Given the description of an element on the screen output the (x, y) to click on. 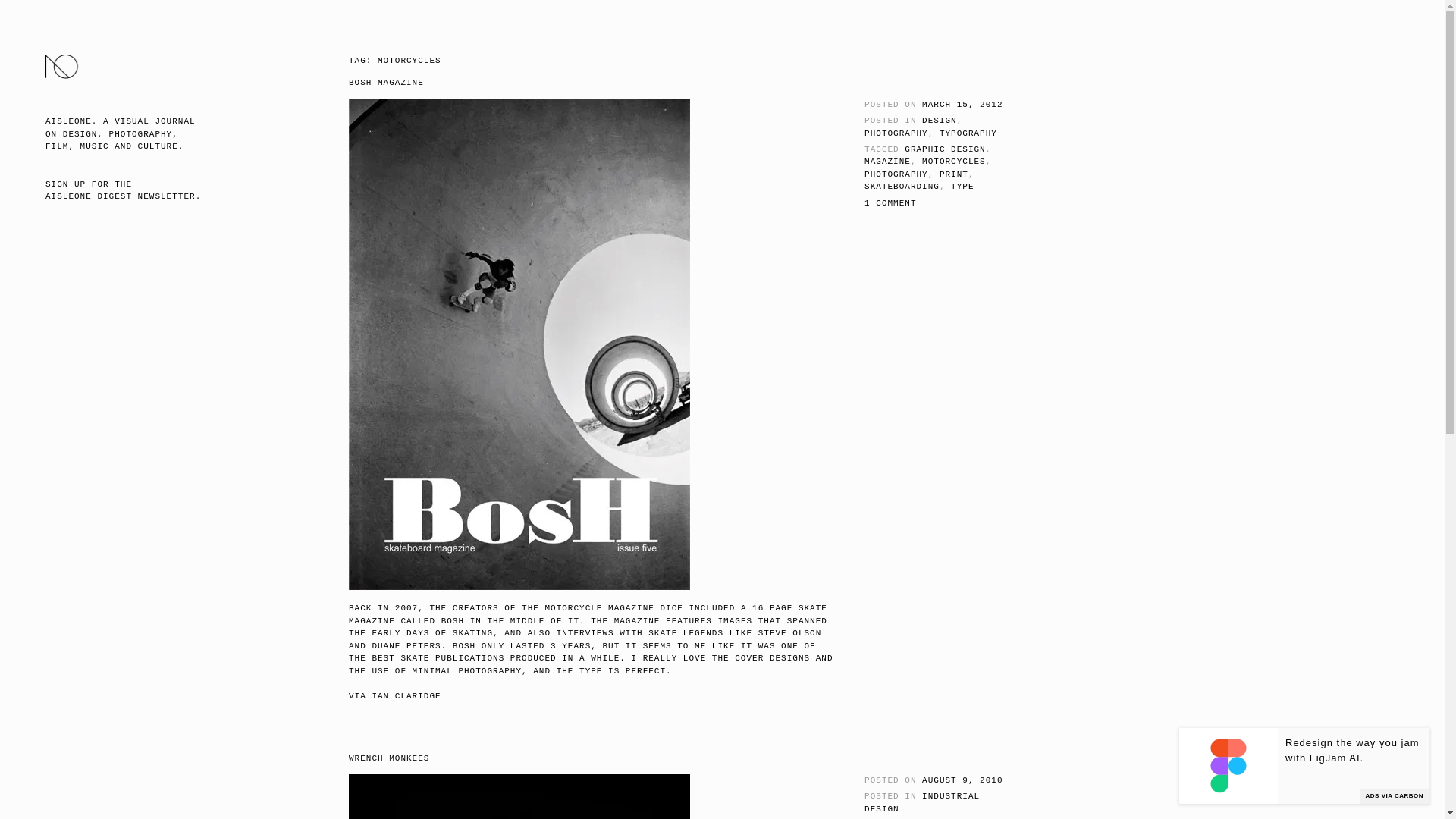
1 COMMENT (889, 203)
VIA IAN CLARIDGE (395, 696)
MARCH 15, 2012 (962, 103)
PHOTOGRAPHY (896, 174)
wrench-monkees.jpg (519, 796)
MOTORCYCLES (953, 161)
TYPOGRAPHY (968, 133)
INDUSTRIAL DESIGN (921, 802)
WRENCH MONKEES (389, 757)
SKATEBOARDING (901, 185)
AUGUST 9, 2010 (962, 779)
BOSH (452, 621)
ADS VIA CARBON (1394, 795)
GRAPHIC DESIGN (944, 148)
PRINT (953, 174)
